Given the description of an element on the screen output the (x, y) to click on. 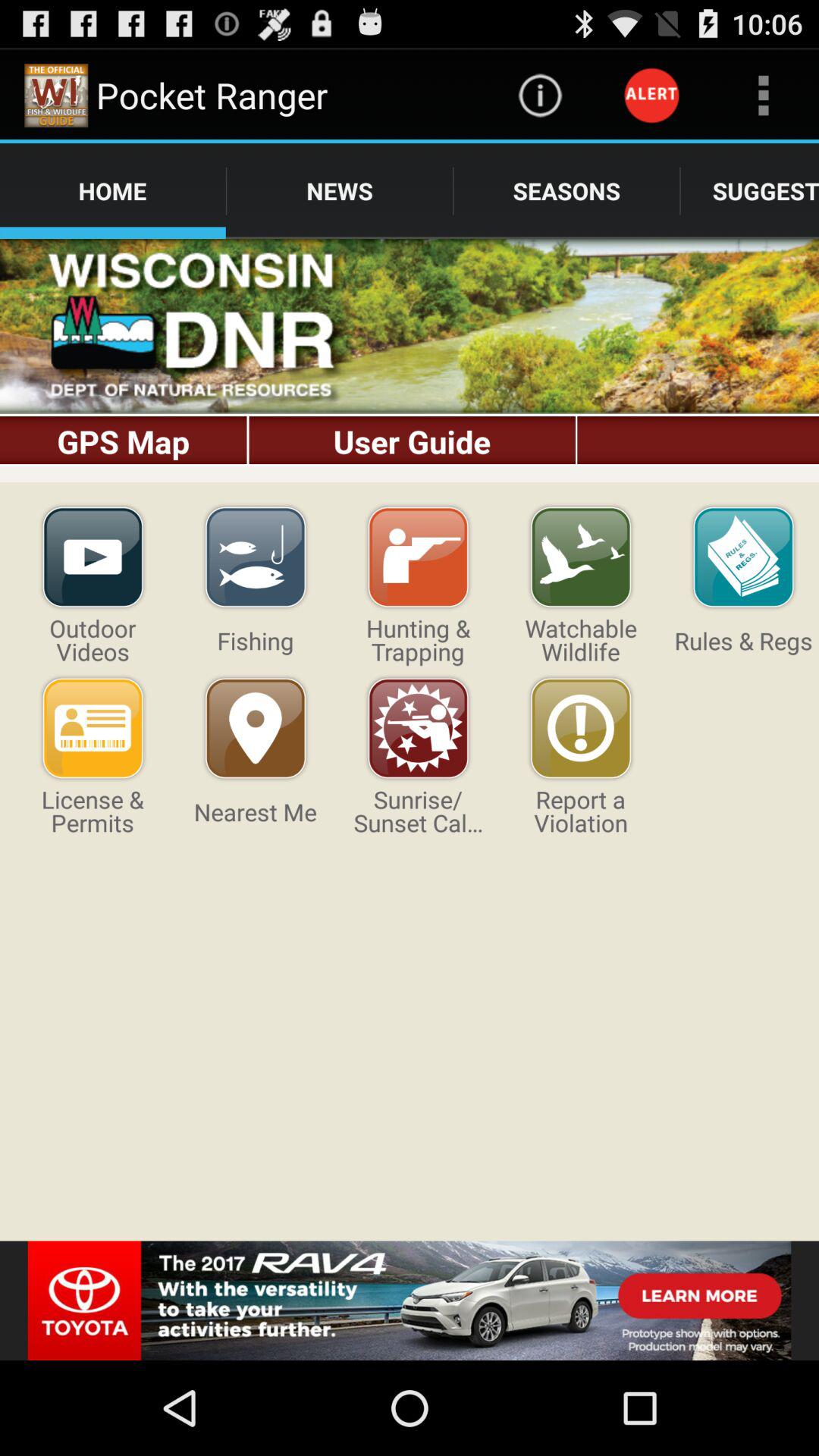
advertisement link (409, 1300)
